Given the description of an element on the screen output the (x, y) to click on. 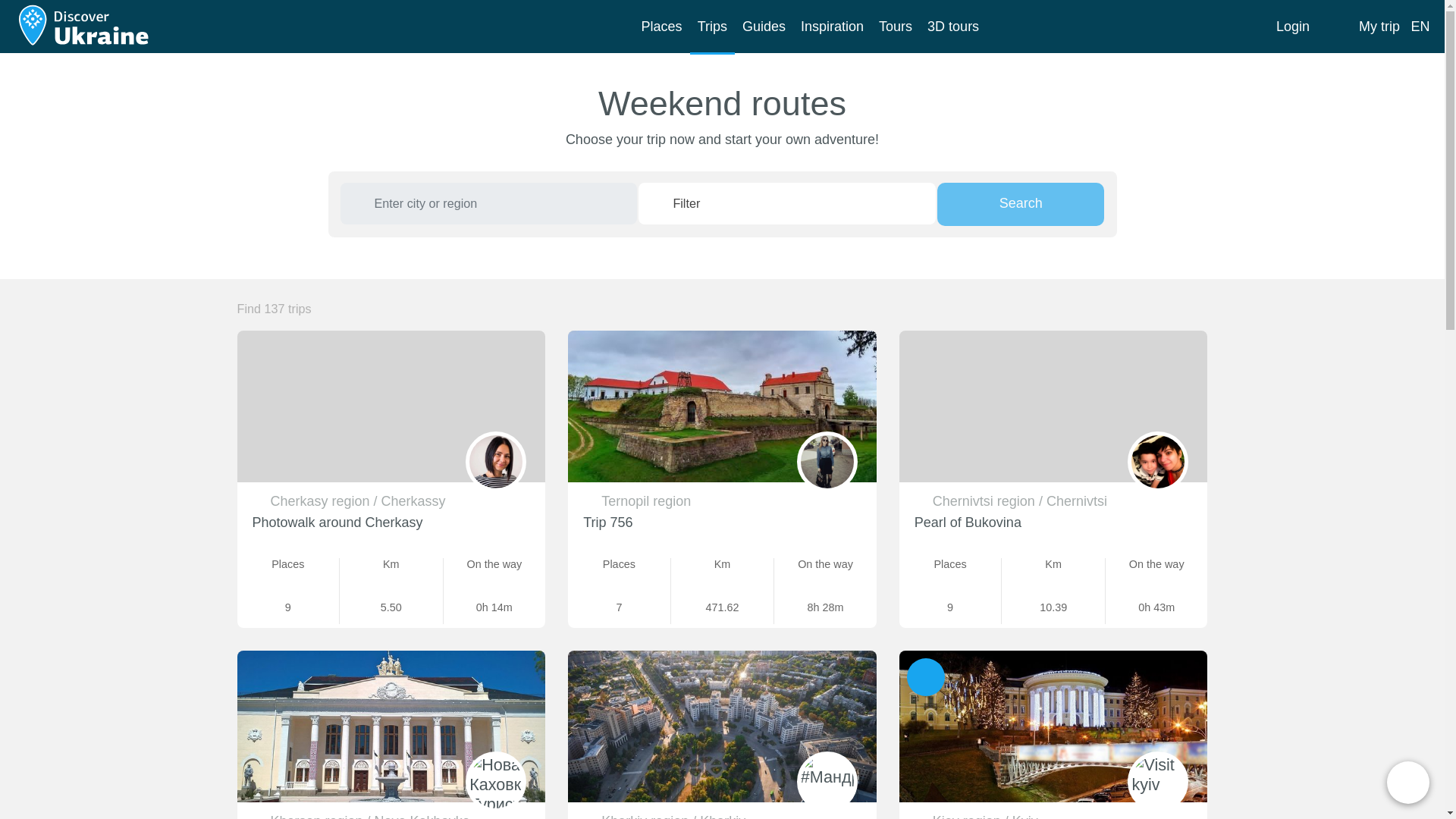
Photowalk around Cherkasy (336, 522)
My trip (1364, 27)
Places (661, 28)
Tours (895, 28)
Search (1020, 204)
Inspiration (831, 28)
3D tours (953, 28)
Guides (764, 28)
Login (1292, 27)
Trip 756 (607, 522)
